Given the description of an element on the screen output the (x, y) to click on. 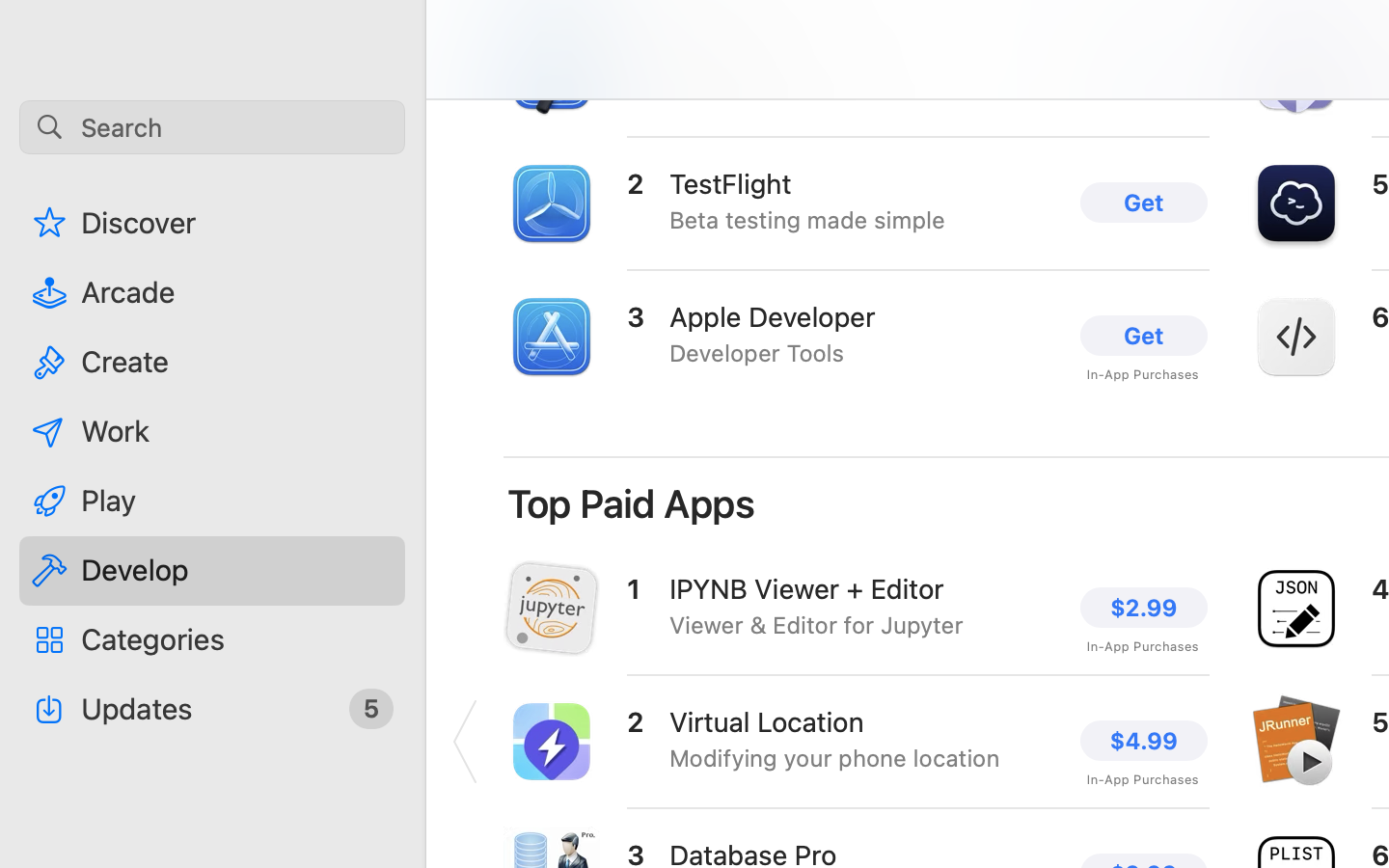
Top Paid Apps Element type: AXStaticText (631, 503)
